Given the description of an element on the screen output the (x, y) to click on. 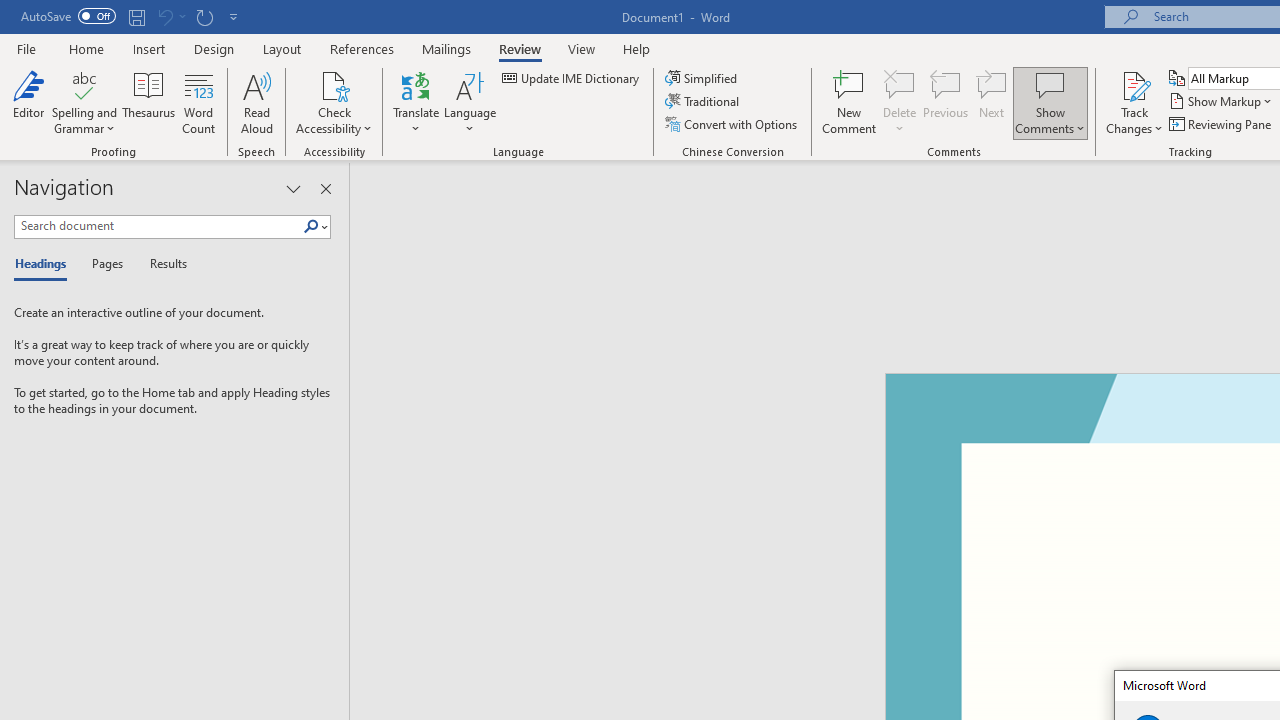
Results (161, 264)
Check Accessibility (334, 102)
Language (470, 102)
New Comment (849, 102)
Next (991, 102)
Spelling and Grammar (84, 84)
Read Aloud (256, 102)
Word Count (198, 102)
Headings (45, 264)
